Given the description of an element on the screen output the (x, y) to click on. 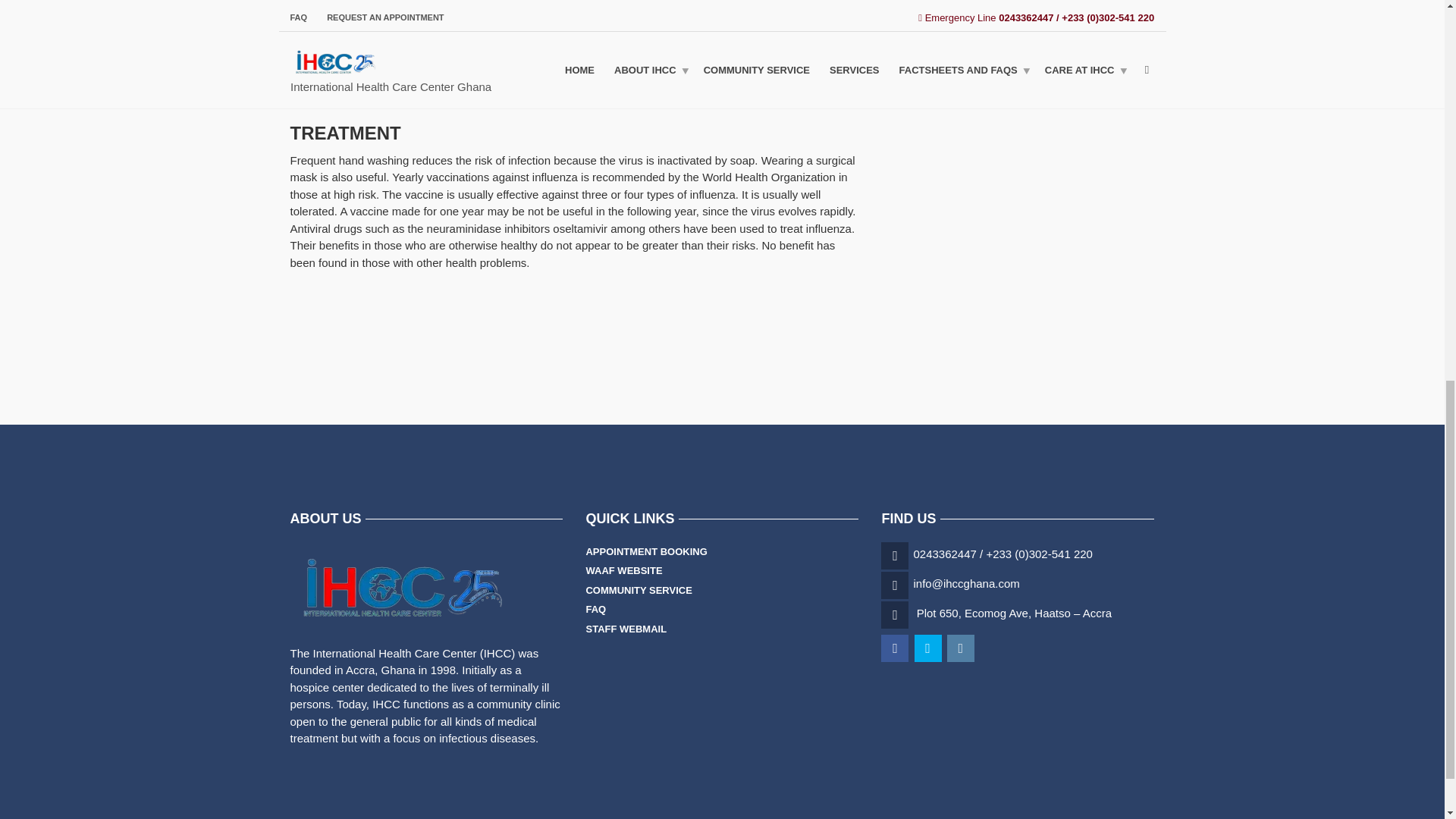
STAFF WEBMAIL (625, 629)
Clinic (897, 50)
FAQ (595, 609)
IHCC Ghana (1009, 50)
APPOINTMENT BOOKING (645, 551)
Donations (947, 50)
WAAF WEBSITE (623, 570)
COMMUNITY SERVICE (638, 590)
